Given the description of an element on the screen output the (x, y) to click on. 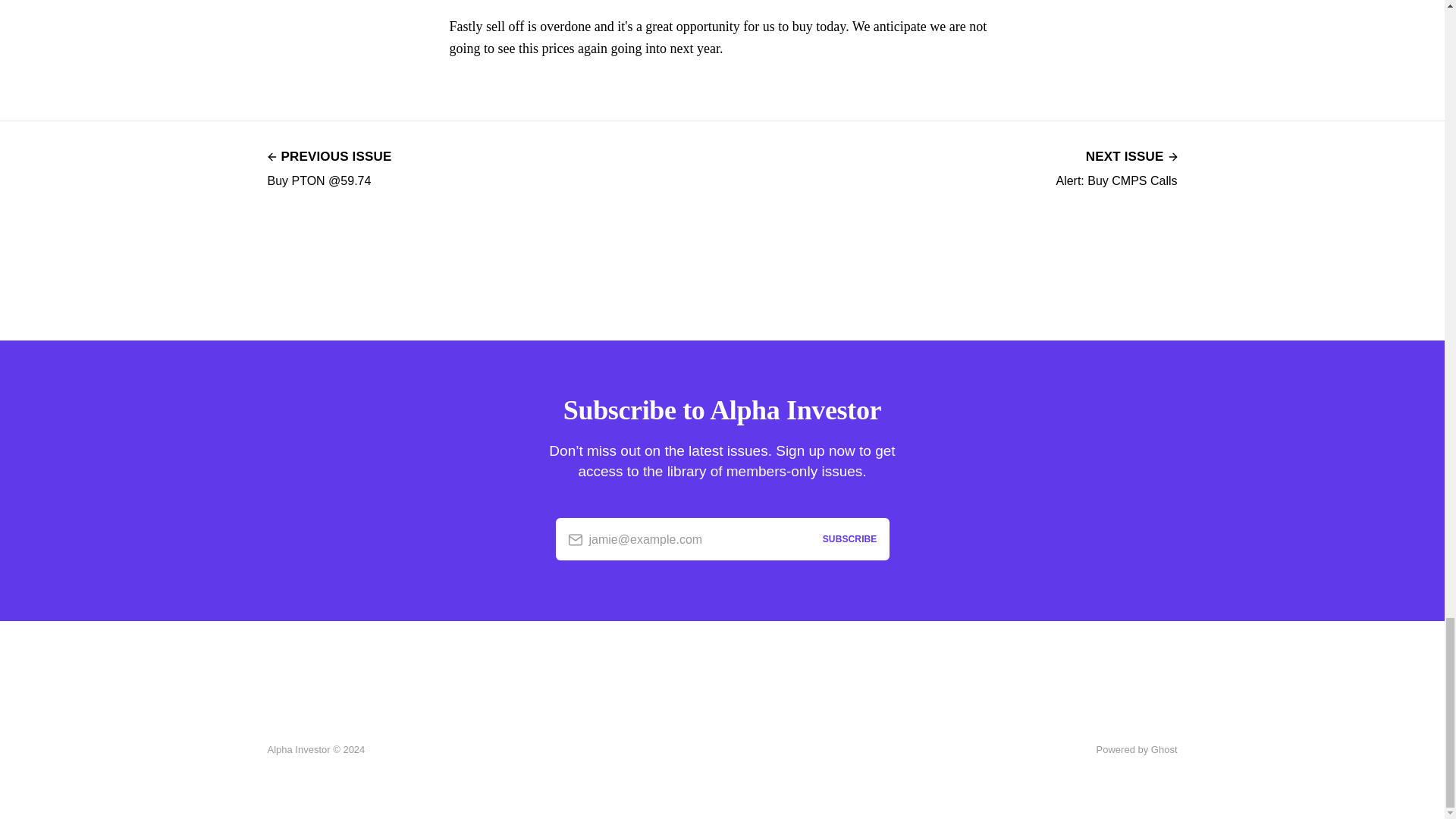
Powered by Ghost (1115, 167)
